Given the description of an element on the screen output the (x, y) to click on. 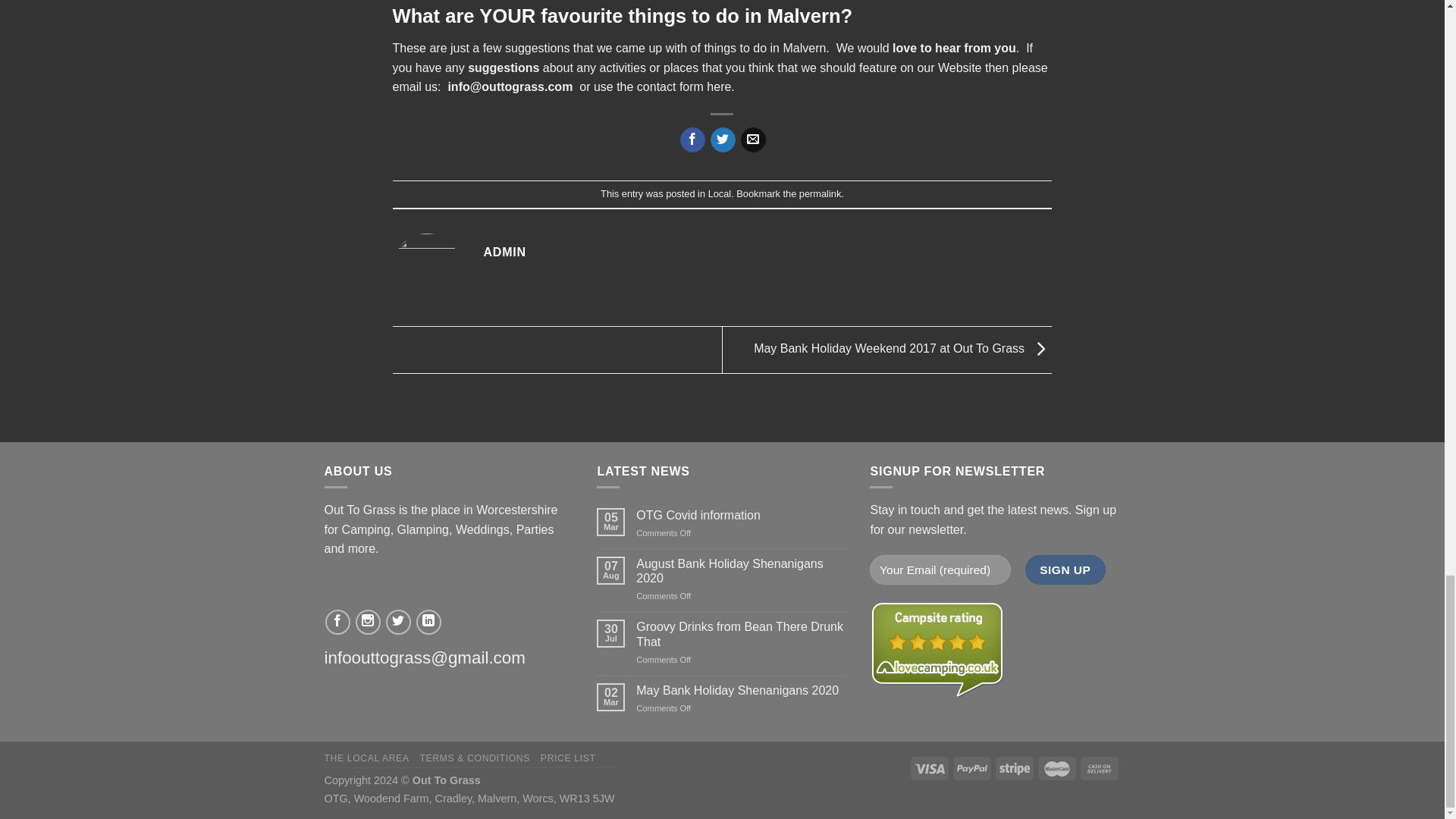
Follow on Twitter (397, 621)
Email to a Friend (753, 140)
Follow on Facebook (337, 621)
Share on Facebook (691, 140)
Sign Up (1065, 569)
Follow on Instagram (367, 621)
Permalink to 7 things to do in Malvern (820, 193)
Share on Twitter (722, 140)
